Given the description of an element on the screen output the (x, y) to click on. 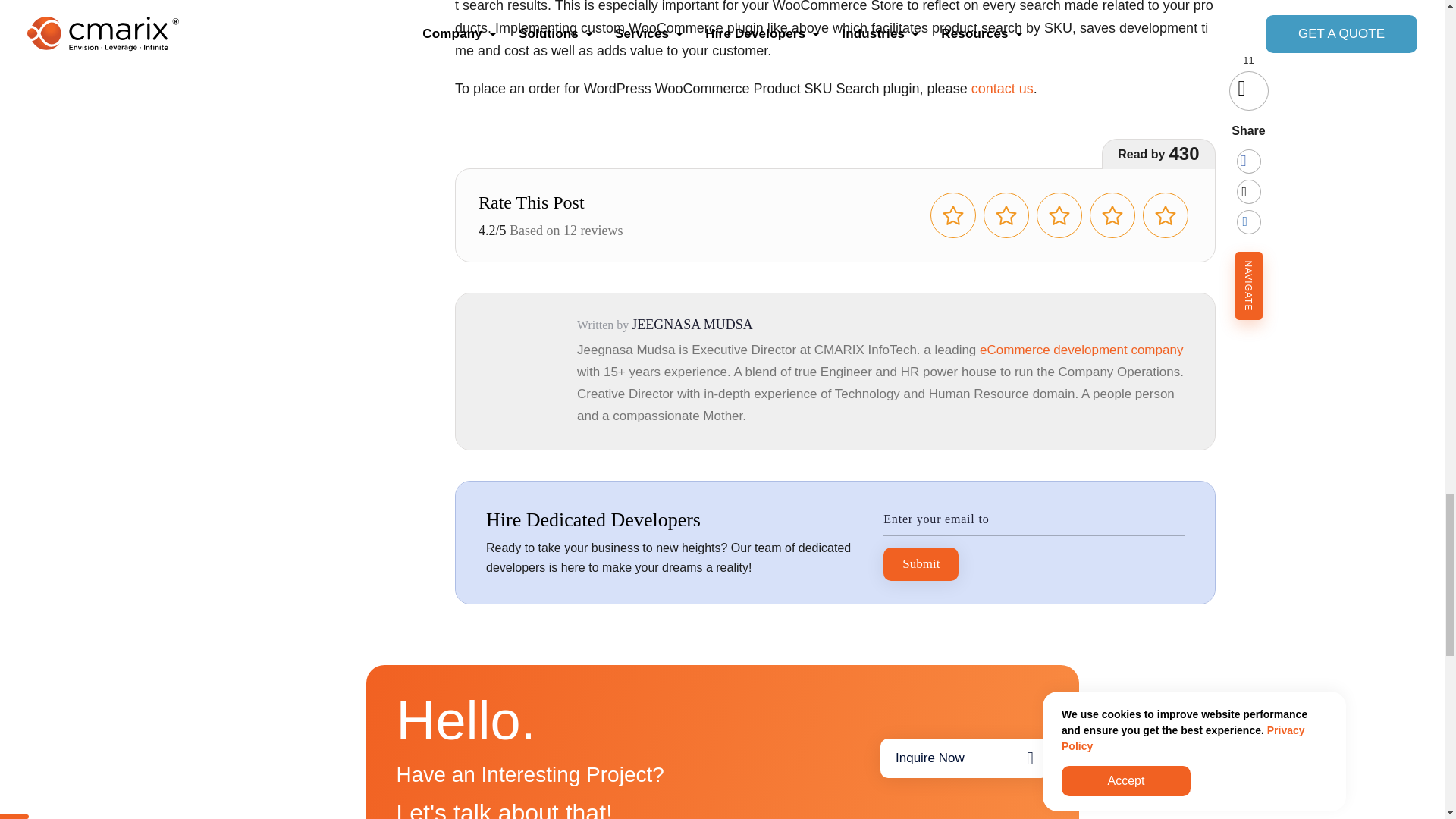
5 (1164, 215)
4 (1111, 215)
2 (1004, 215)
Submit (920, 563)
1 (952, 215)
3 (1058, 215)
